Given the description of an element on the screen output the (x, y) to click on. 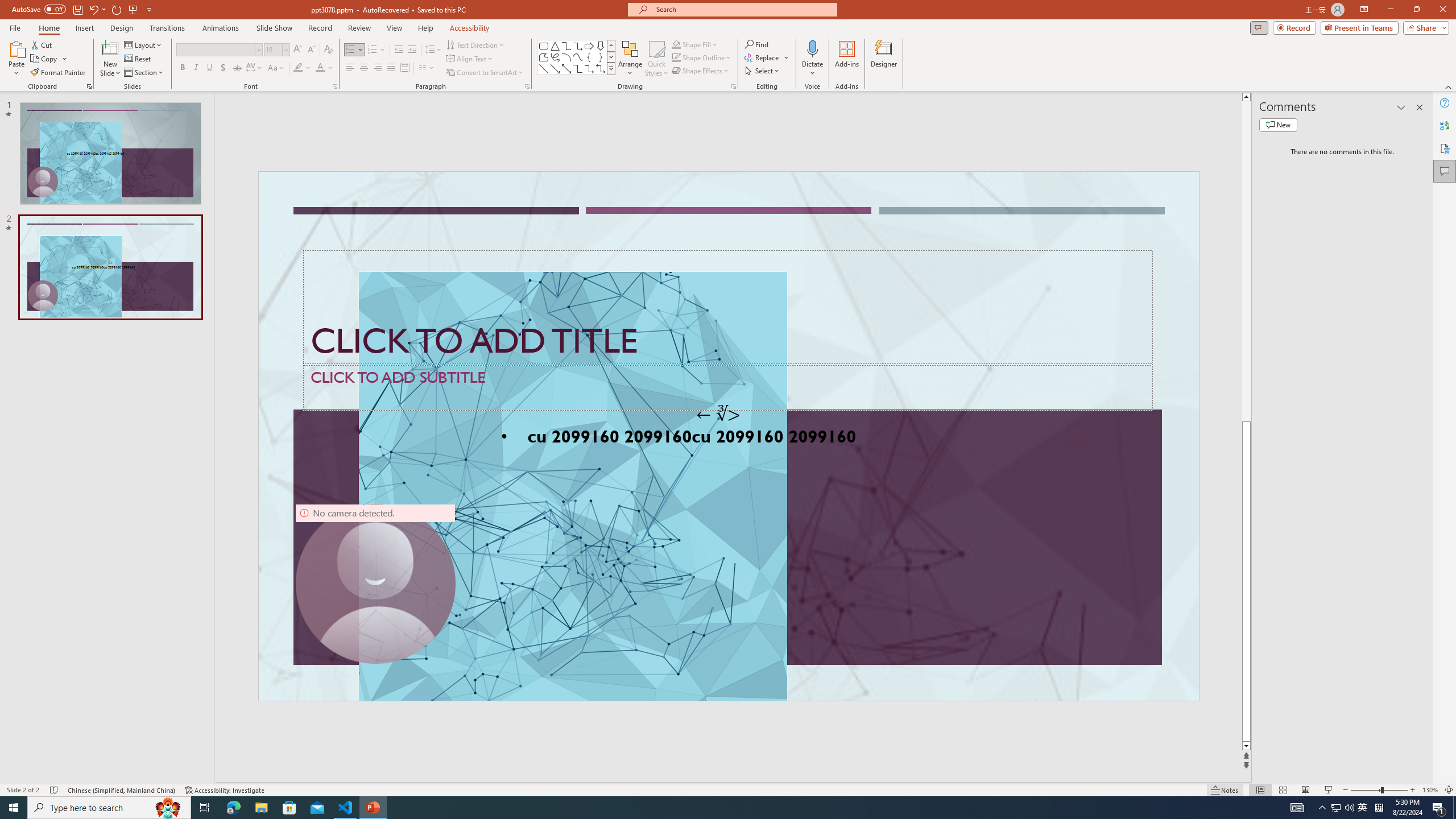
Title TextBox (727, 308)
